Given the description of an element on the screen output the (x, y) to click on. 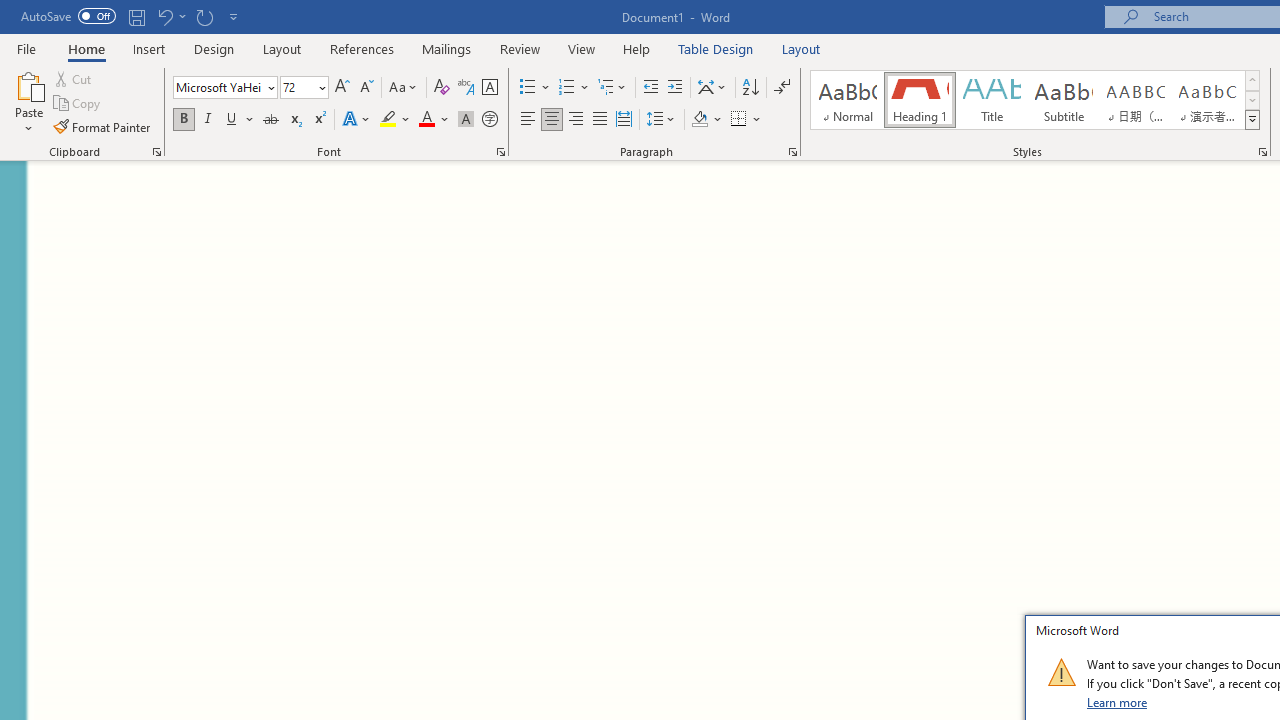
Styles (1252, 120)
Center (552, 119)
Distributed (623, 119)
Repeat Grow Font (204, 15)
Undo Grow Font (170, 15)
Subscript (294, 119)
Change Case (404, 87)
Text Effects and Typography (357, 119)
Grow Font (342, 87)
